Given the description of an element on the screen output the (x, y) to click on. 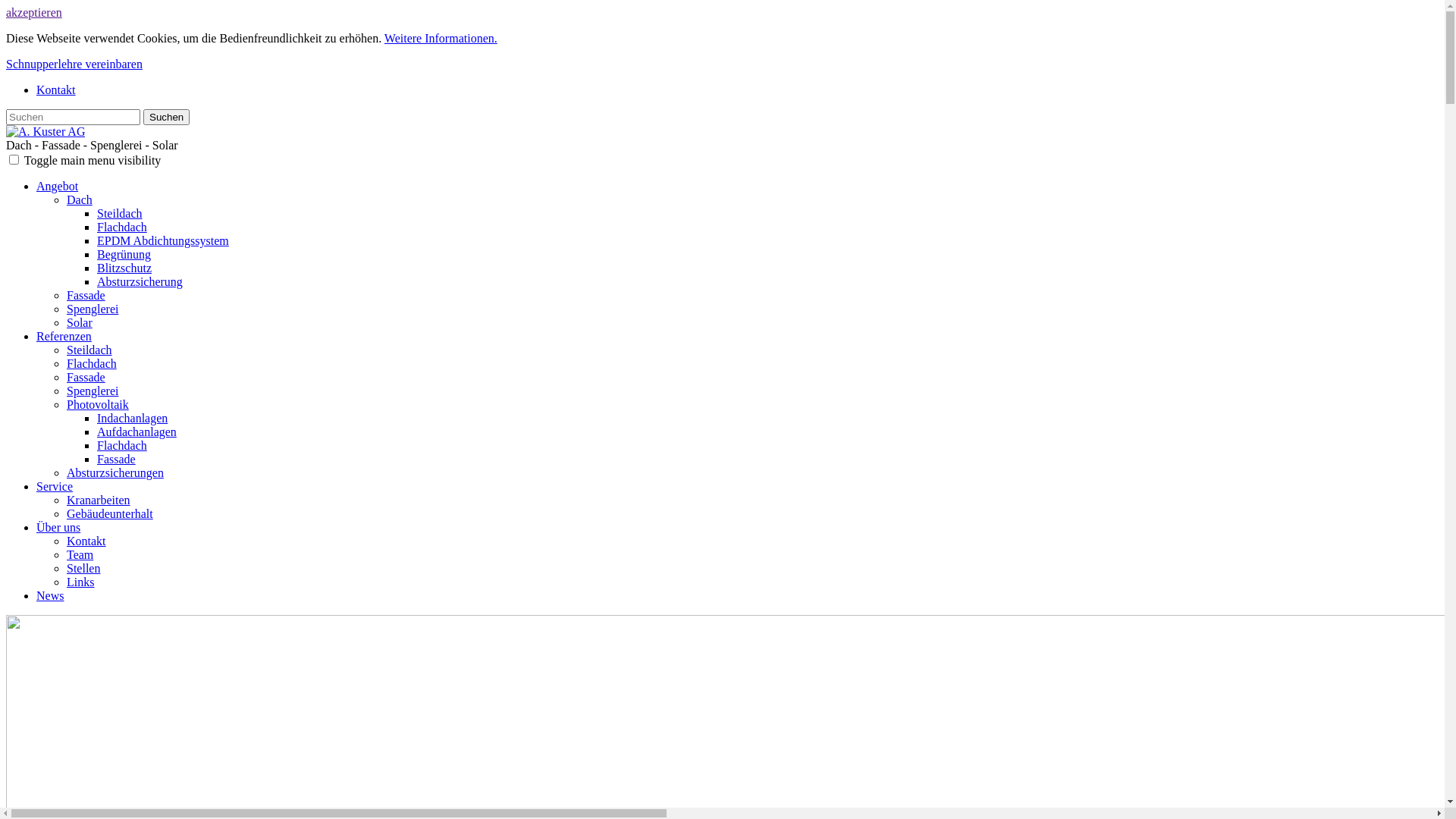
Absturzsicherung Element type: text (139, 281)
Team Element type: text (79, 554)
Fassade Element type: text (85, 294)
Flachdach Element type: text (122, 226)
Links Element type: text (80, 581)
Aufdachanlagen Element type: text (136, 431)
Spenglerei Element type: text (92, 390)
Schnupperlehre vereinbaren Element type: text (74, 63)
Steildach Element type: text (119, 213)
Fassade Element type: text (85, 376)
Solar Element type: text (79, 322)
Suchen Element type: text (166, 117)
Blitzschutz Element type: text (124, 267)
Kontakt Element type: text (86, 540)
Stellen Element type: text (83, 567)
Photovoltaik Element type: text (97, 404)
Angebot Element type: text (57, 185)
Flachdach Element type: text (122, 445)
A. Kuster AG Element type: hover (45, 131)
Kranarbeiten Element type: text (98, 499)
Steildach Element type: text (89, 349)
EPDM Abdichtungssystem Element type: text (163, 240)
Kontakt Element type: text (55, 89)
Service Element type: text (54, 486)
Indachanlagen Element type: text (132, 417)
Absturzsicherungen Element type: text (114, 472)
News Element type: text (49, 595)
Spenglerei Element type: text (92, 308)
Dach Element type: text (79, 199)
Weitere Informationen. Element type: text (440, 37)
akzeptieren Element type: text (34, 12)
Referenzen Element type: text (63, 335)
Flachdach Element type: text (91, 363)
Fassade Element type: text (116, 458)
